Given the description of an element on the screen output the (x, y) to click on. 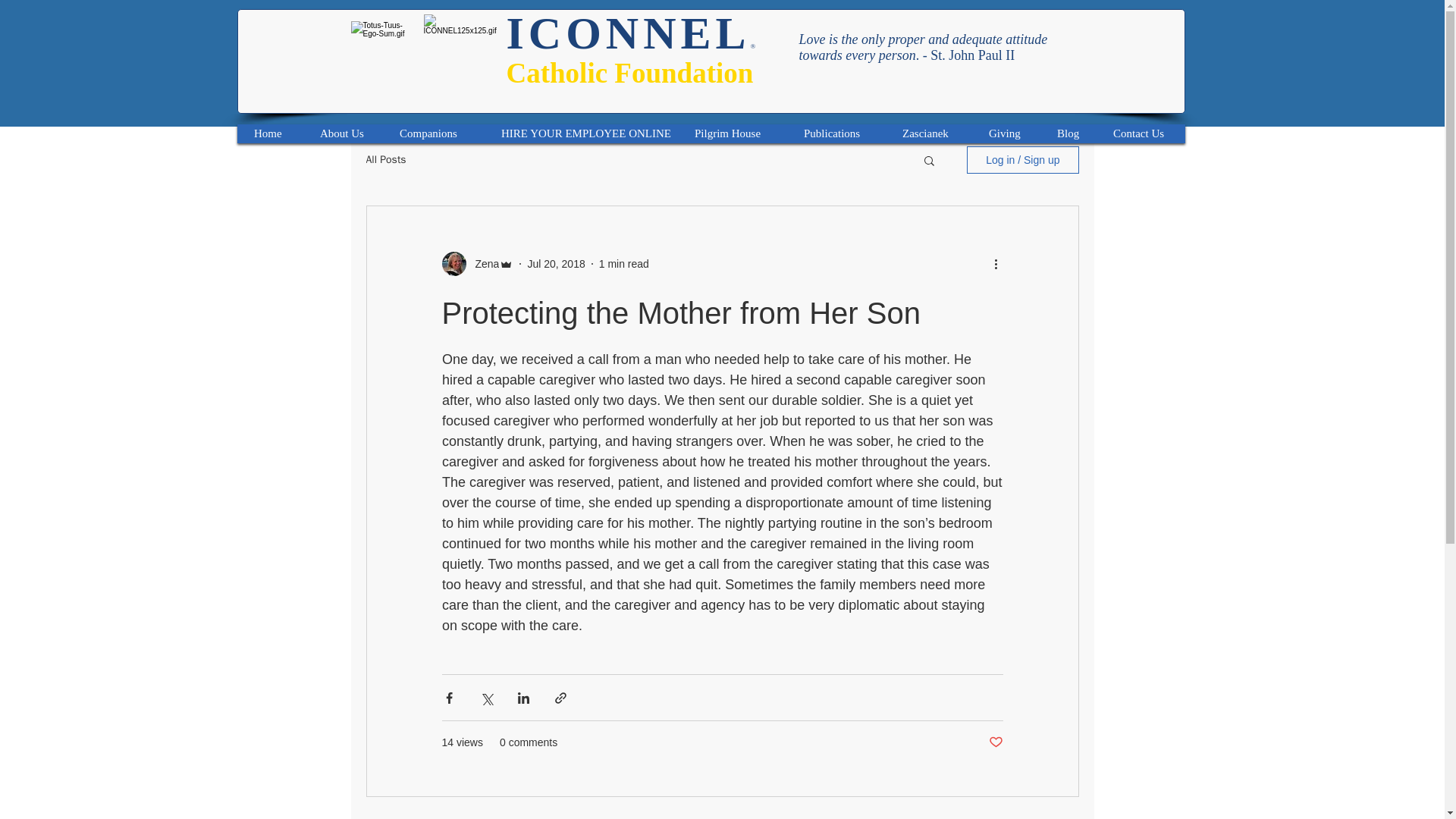
Companions (435, 133)
Zena (482, 263)
Giving (1007, 133)
About Us (343, 133)
Jul 20, 2018 (556, 263)
Contact Us (1142, 133)
Home (271, 133)
Post not marked as liked (995, 742)
HIRE YOUR EMPLOYEE ONLINE (582, 133)
1 min read (623, 263)
